Given the description of an element on the screen output the (x, y) to click on. 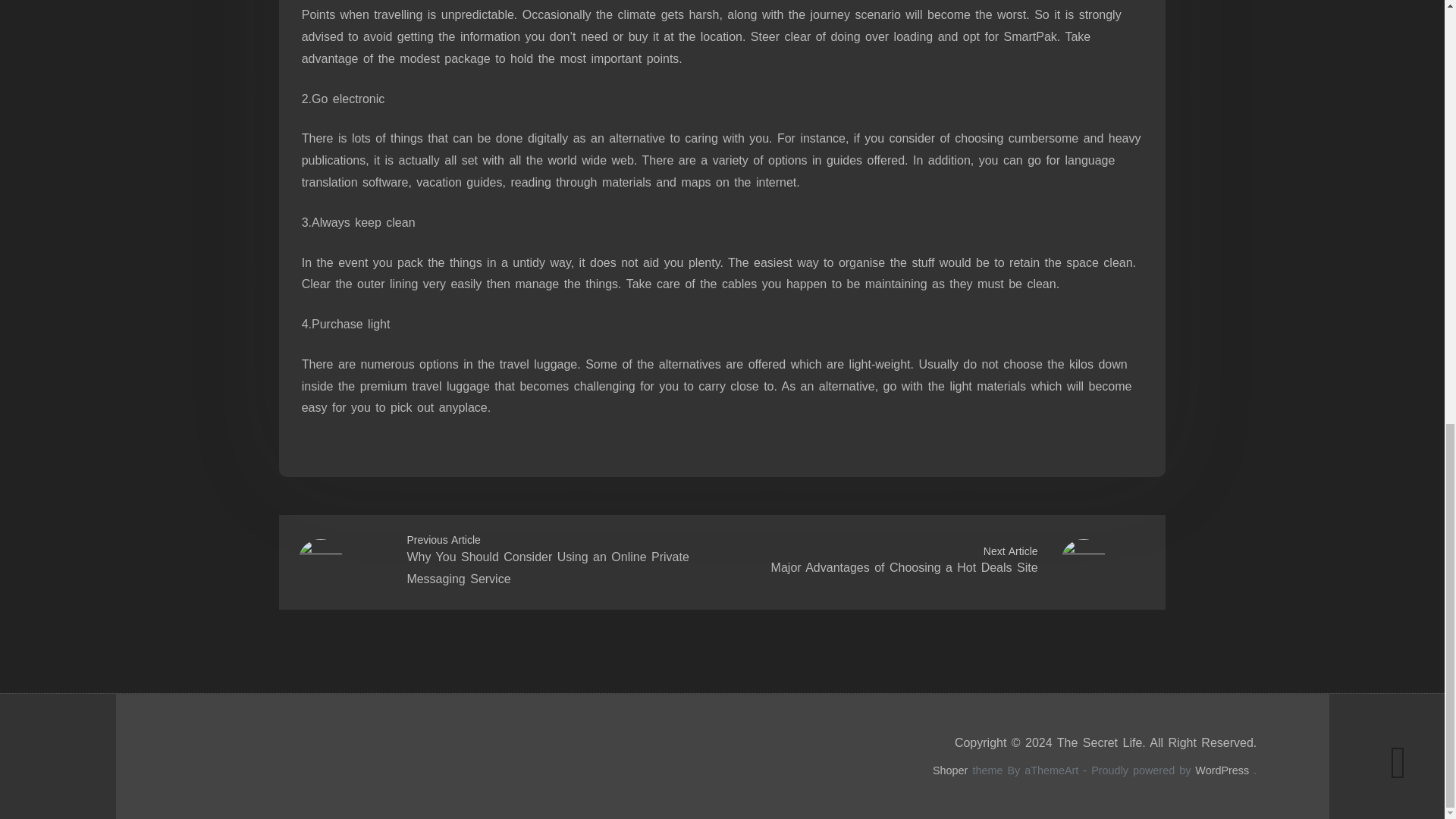
Major Advantages of Choosing a Hot Deals Site (904, 567)
Shoper (950, 770)
WordPress (1222, 770)
